Given the description of an element on the screen output the (x, y) to click on. 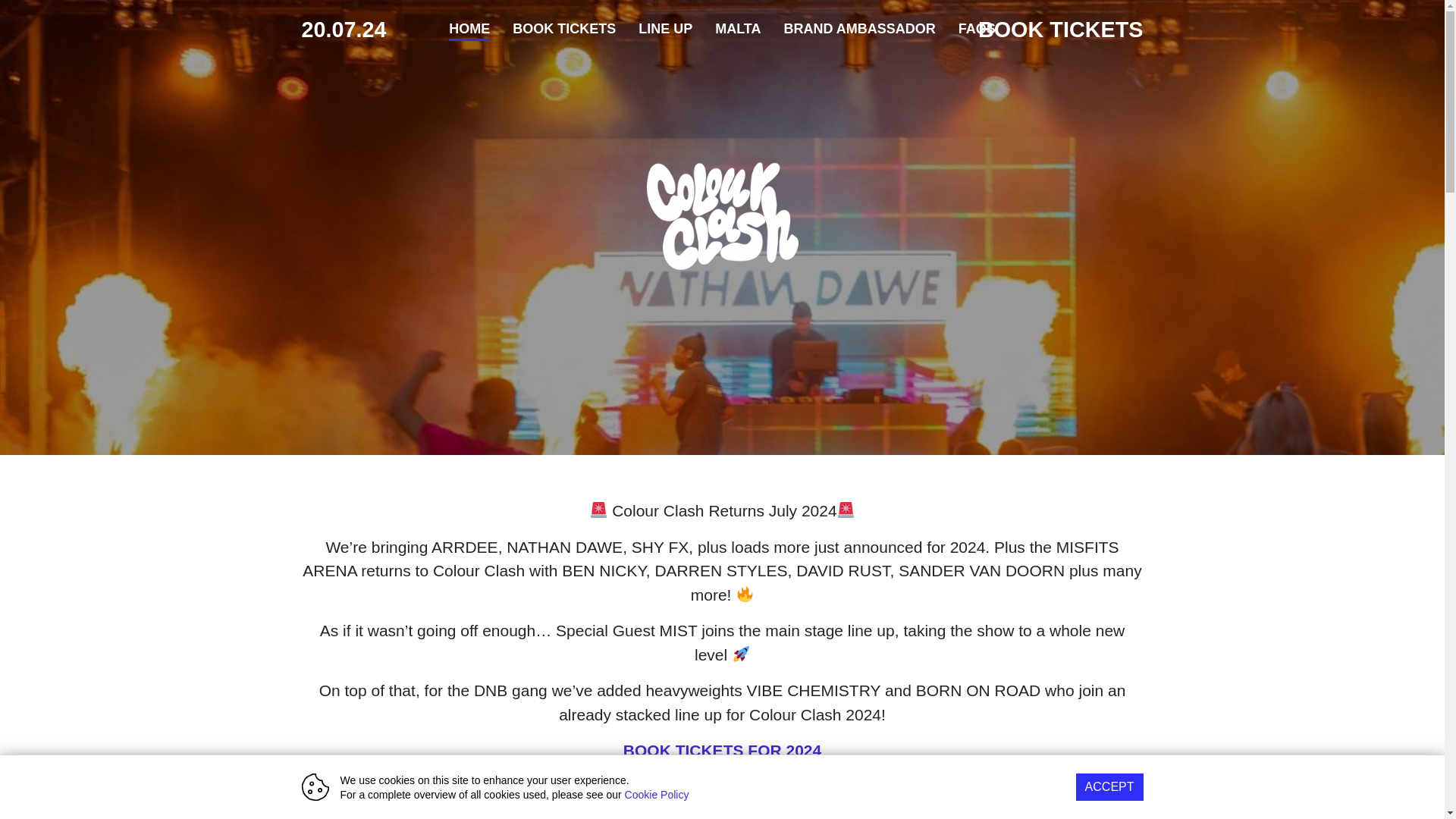
LINE UP (666, 29)
BOOK TICKETS (563, 29)
Line Up (666, 29)
Brand Ambassador (858, 29)
FAQS (976, 29)
HOME (468, 29)
BOOK TICKETS (1060, 29)
FAQs (976, 29)
Malta (737, 29)
Home (468, 29)
BOOK TICKETS (563, 29)
BRAND AMBASSADOR (858, 29)
BOOK TICKETS FOR 2024 (722, 750)
MALTA (737, 29)
